Given the description of an element on the screen output the (x, y) to click on. 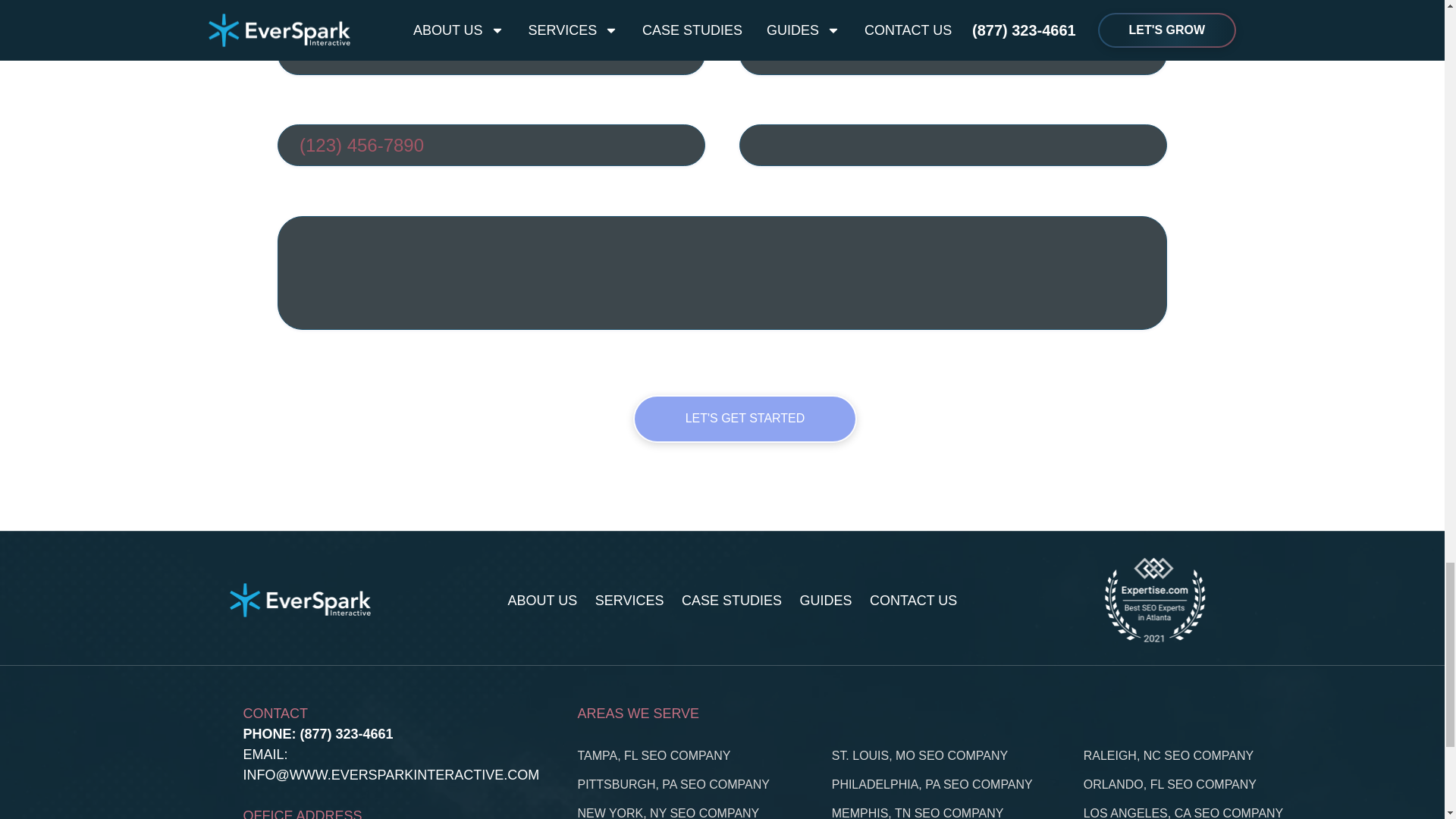
logo2 (299, 600)
Let's Get Started (745, 418)
40d6a4baa17461064e2ad84867d35804 (1153, 600)
